Given the description of an element on the screen output the (x, y) to click on. 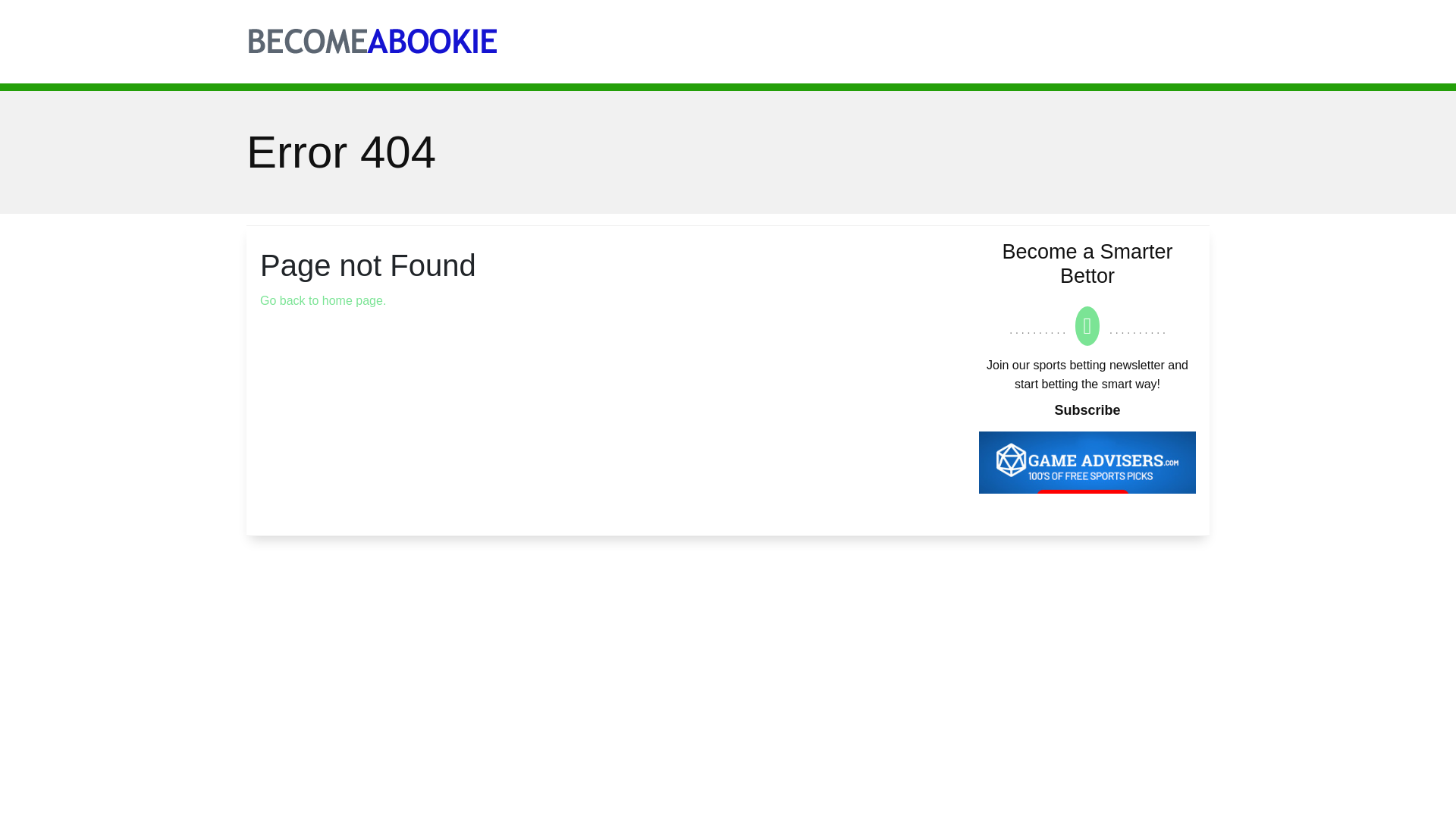
Go back to home page. (322, 300)
Subscribe (1086, 409)
